Given the description of an element on the screen output the (x, y) to click on. 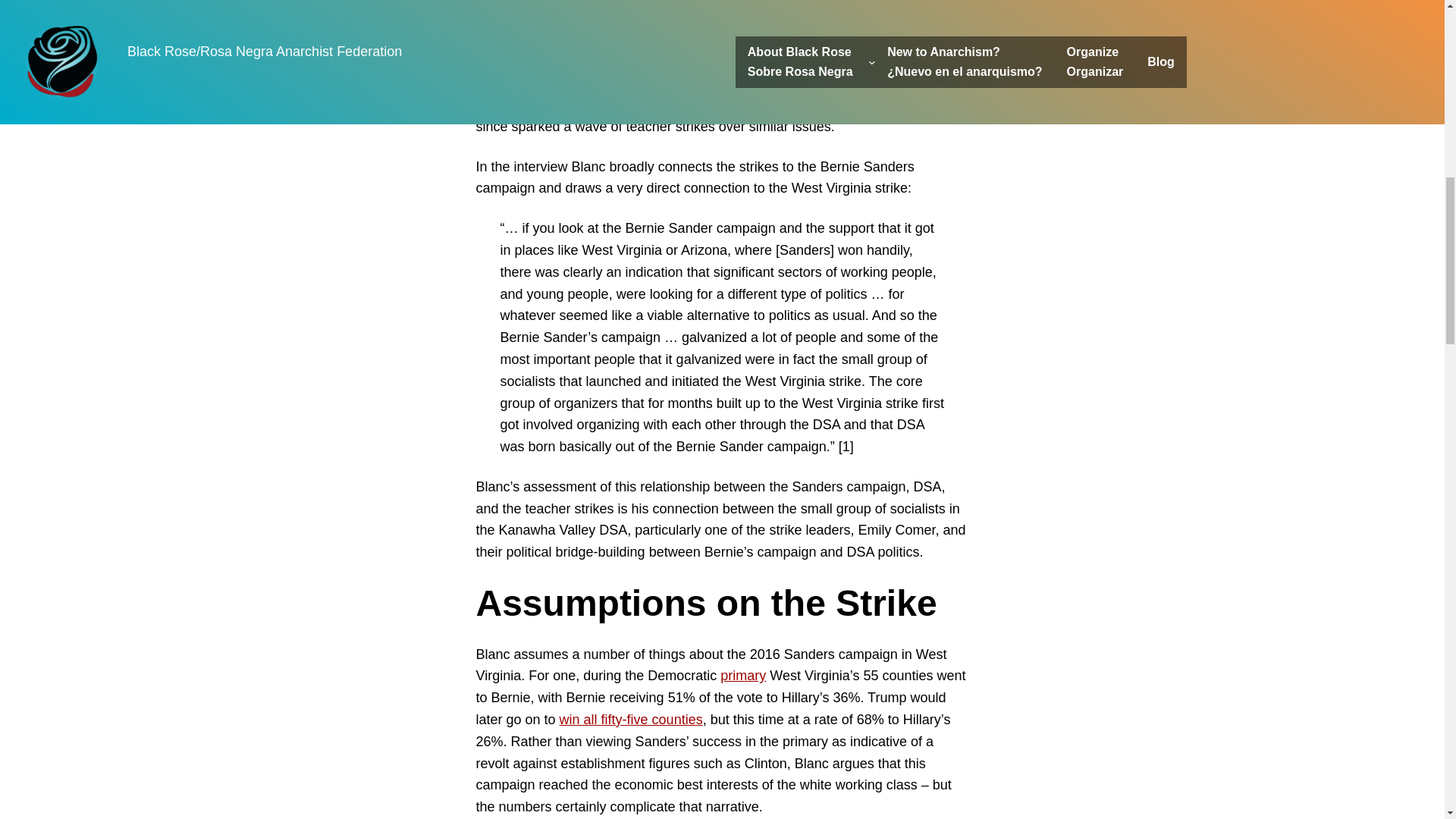
win all fifty-five counties (631, 719)
primary (742, 675)
Dead Pundit Society podcast (746, 17)
Eric Blanc (927, 38)
